Given the description of an element on the screen output the (x, y) to click on. 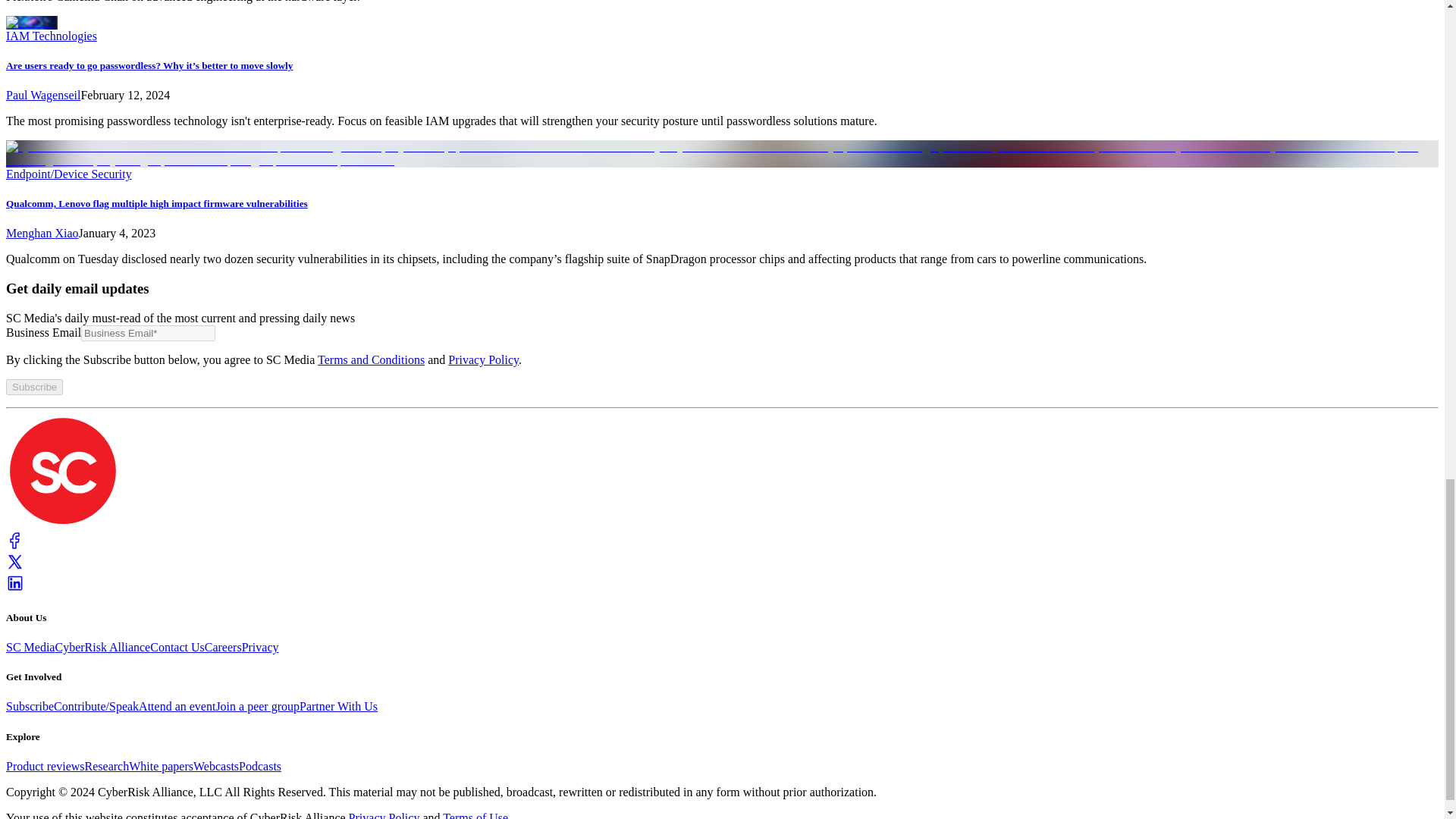
SC Media (62, 523)
Menghan Xiao (41, 232)
Terms and Conditions (371, 359)
Paul Wagenseil (42, 94)
IAM Technologies (51, 35)
Privacy Policy (483, 359)
SCMagazine on Facebook (14, 545)
Subscribe (33, 386)
SCMagazine on Twitter (14, 566)
SCMagazine on LinkedIn (14, 587)
